Given the description of an element on the screen output the (x, y) to click on. 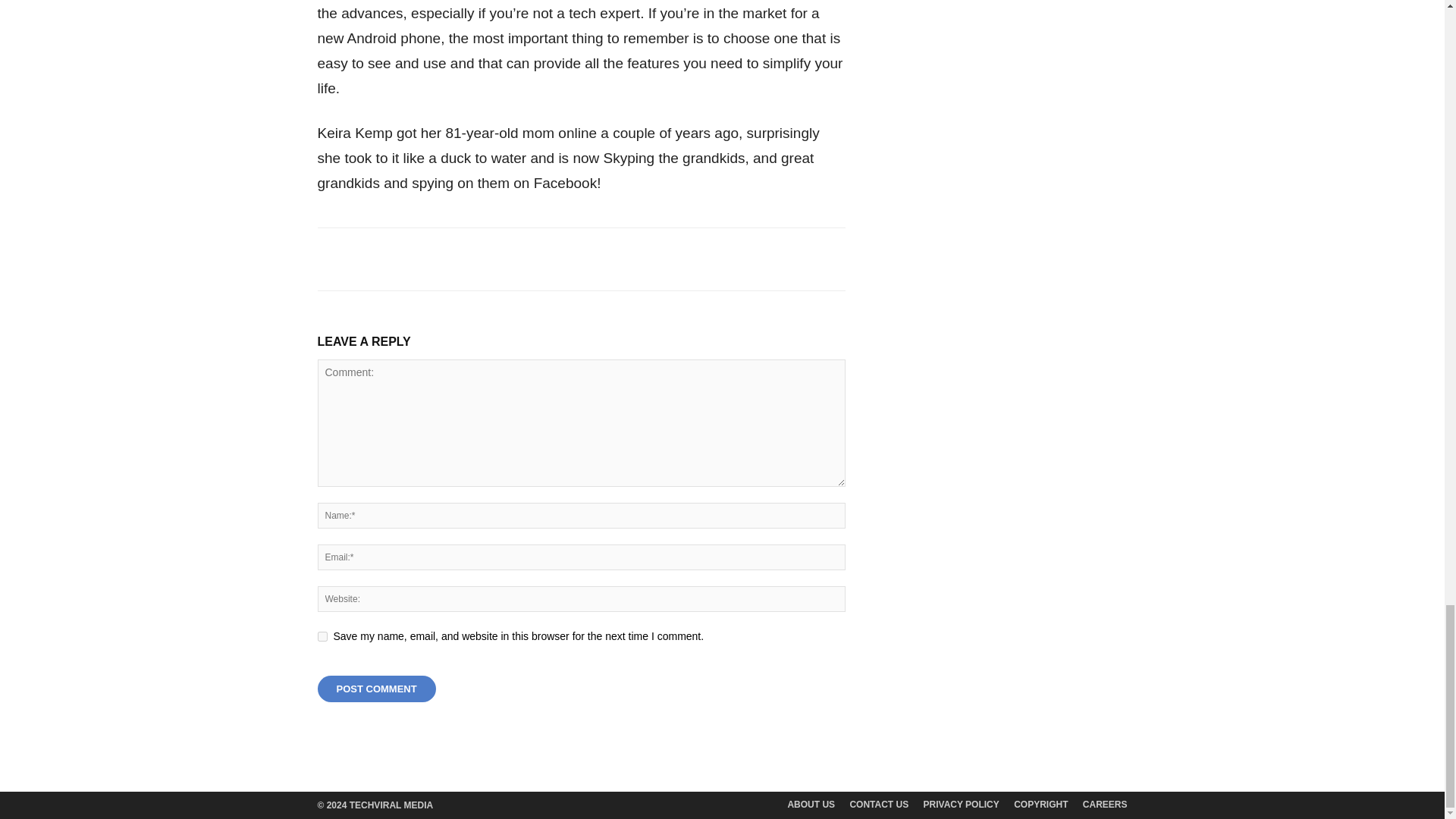
Post Comment (376, 688)
yes (321, 636)
